Given the description of an element on the screen output the (x, y) to click on. 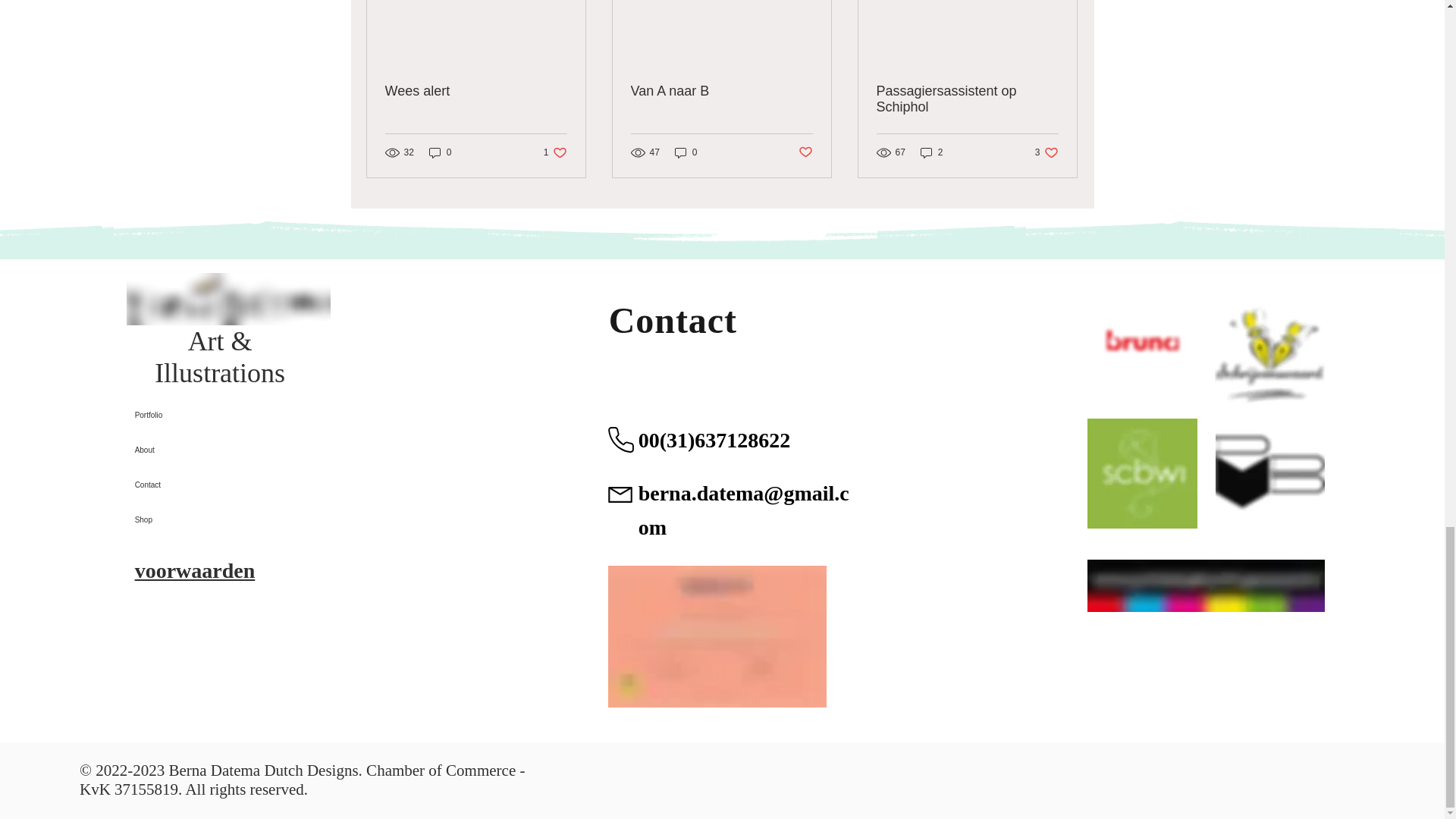
Wees alert (476, 91)
